Given the description of an element on the screen output the (x, y) to click on. 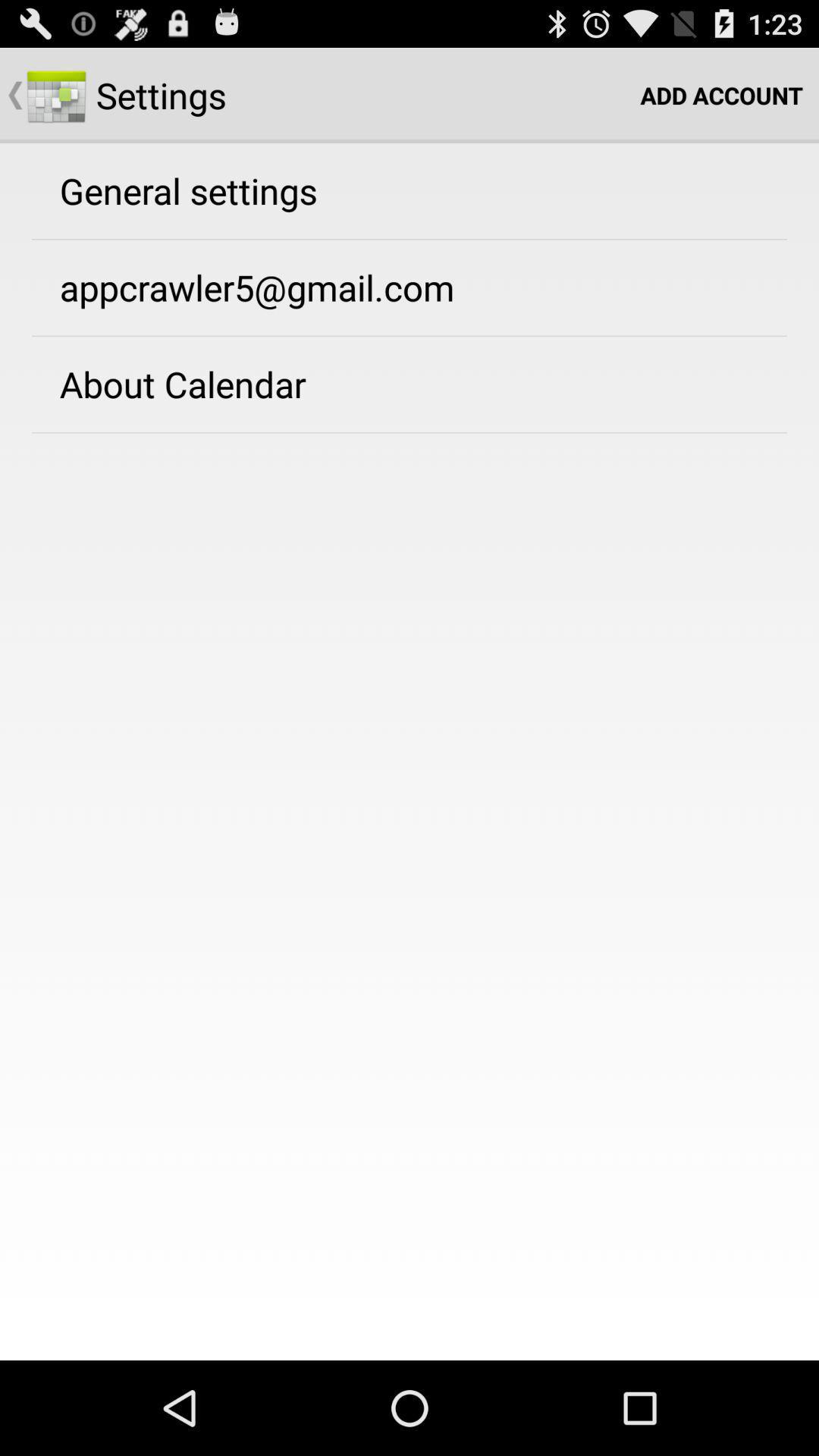
jump until appcrawler5@gmail.com item (256, 287)
